Given the description of an element on the screen output the (x, y) to click on. 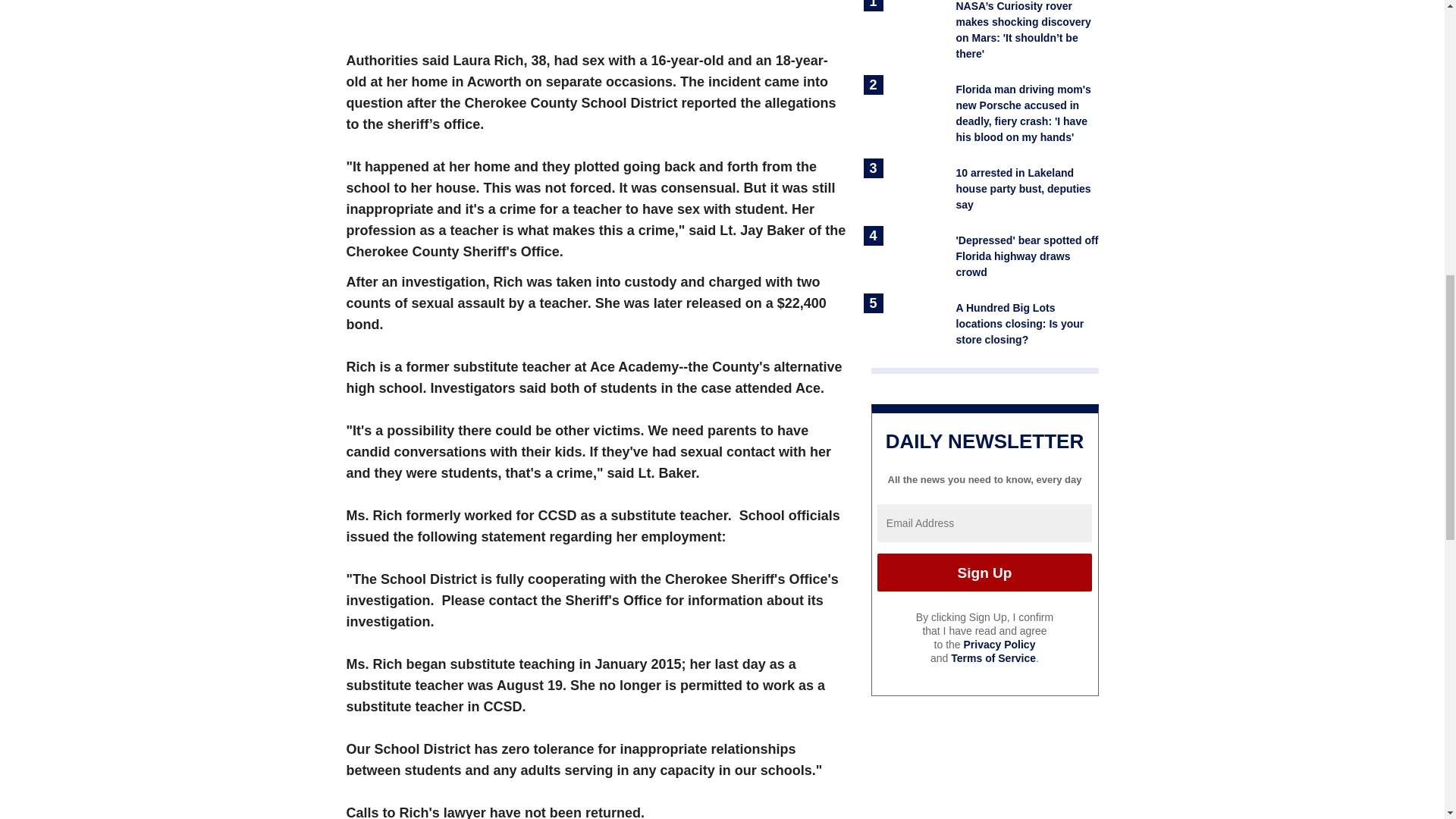
Sign Up (984, 572)
